Given the description of an element on the screen output the (x, y) to click on. 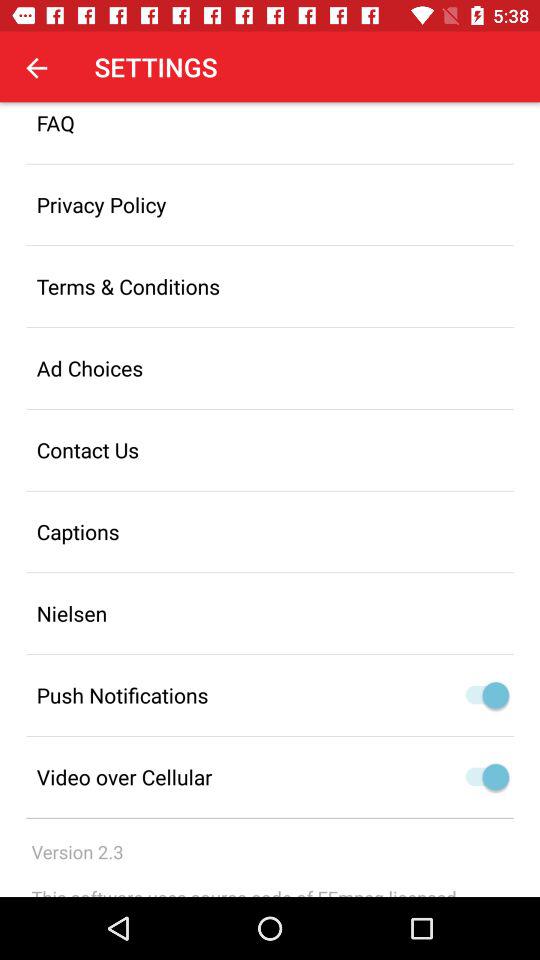
jump until the captions icon (270, 531)
